Given the description of an element on the screen output the (x, y) to click on. 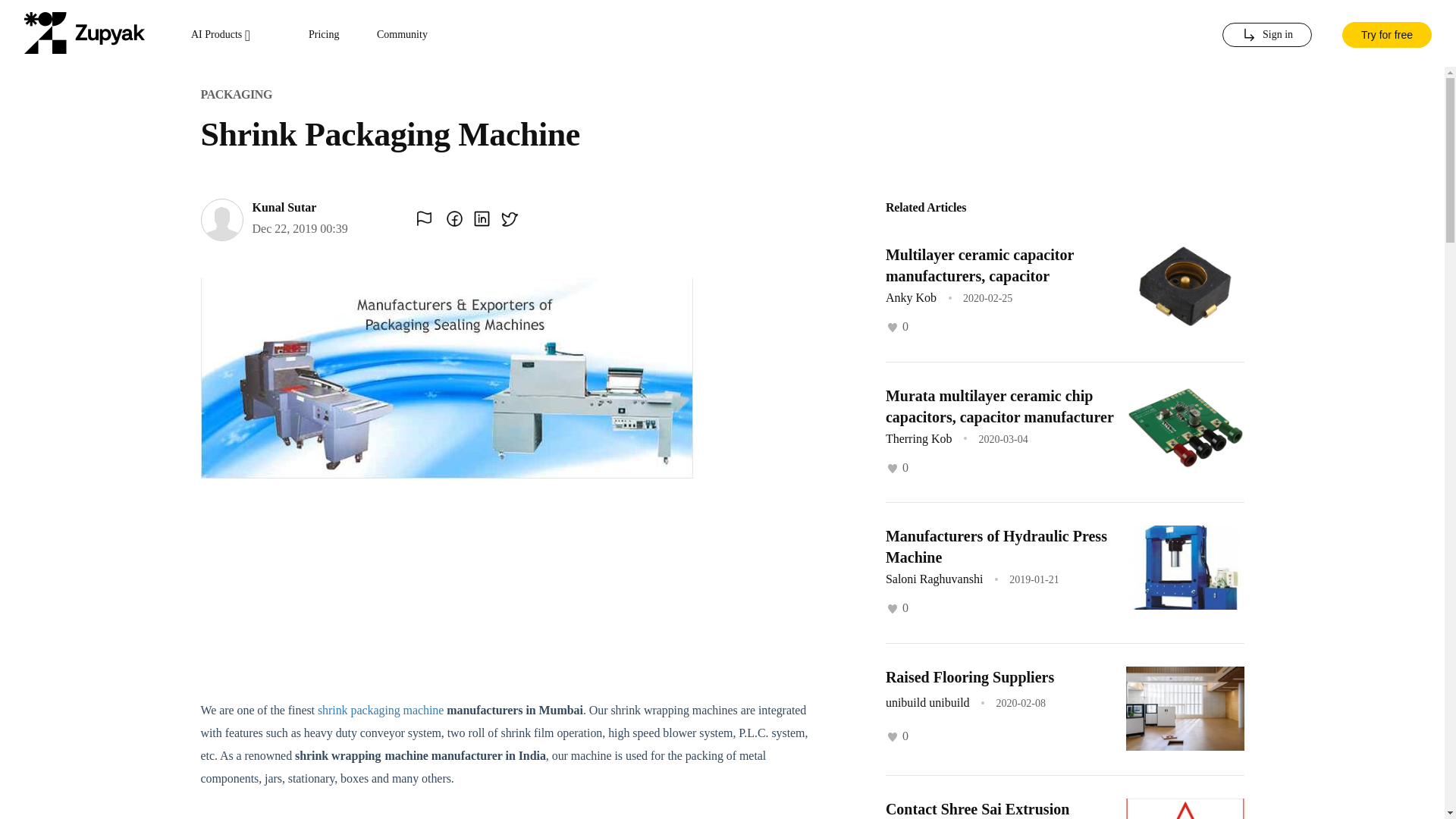
 Sign in (1267, 34)
Pricing (323, 34)
PACKAGING (235, 93)
shrink packaging machine (380, 709)
Raised Flooring Suppliers (969, 677)
Try for free (1386, 33)
